Given the description of an element on the screen output the (x, y) to click on. 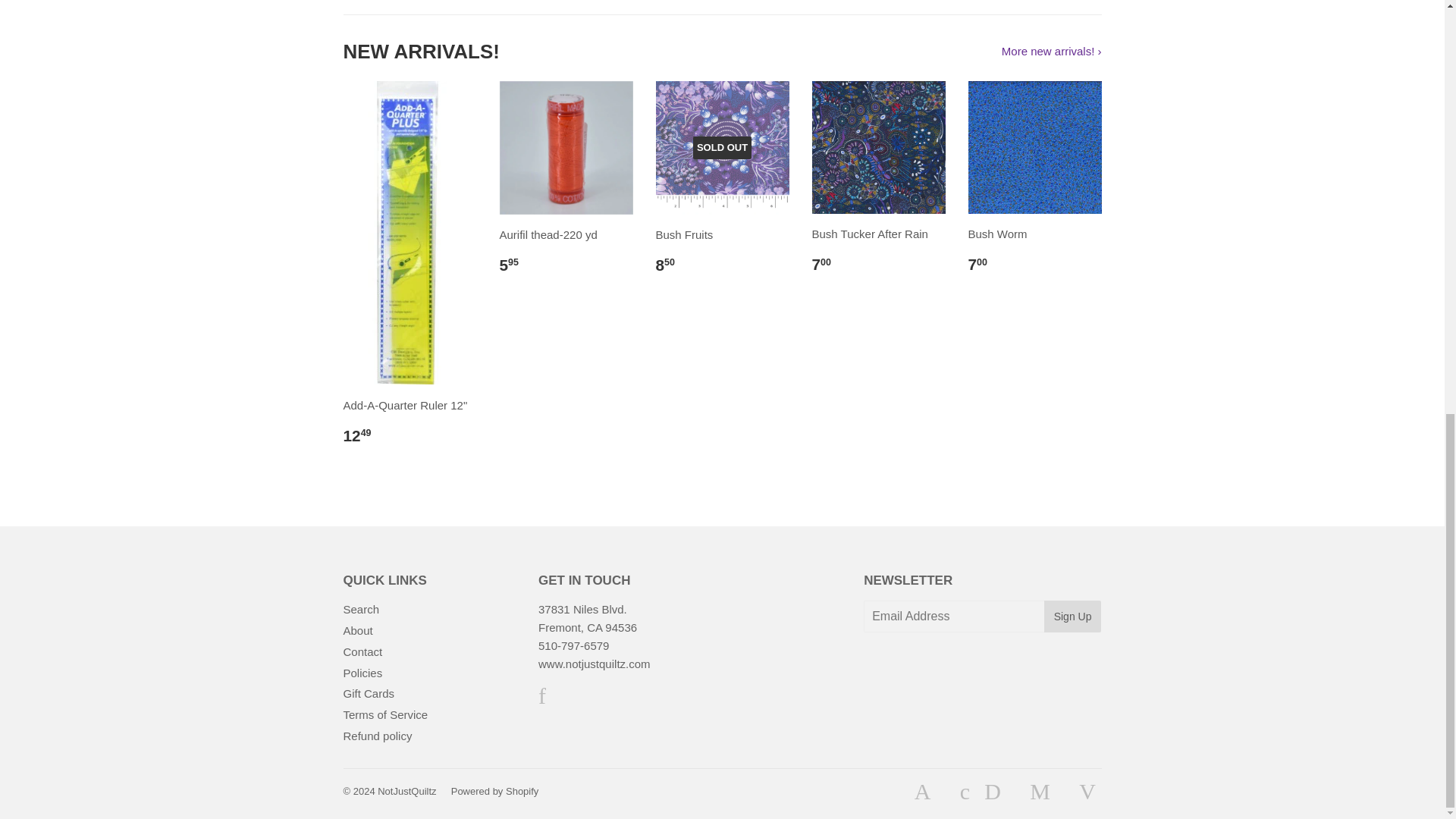
NotJustQuiltz on Facebook (542, 698)
